Given the description of an element on the screen output the (x, y) to click on. 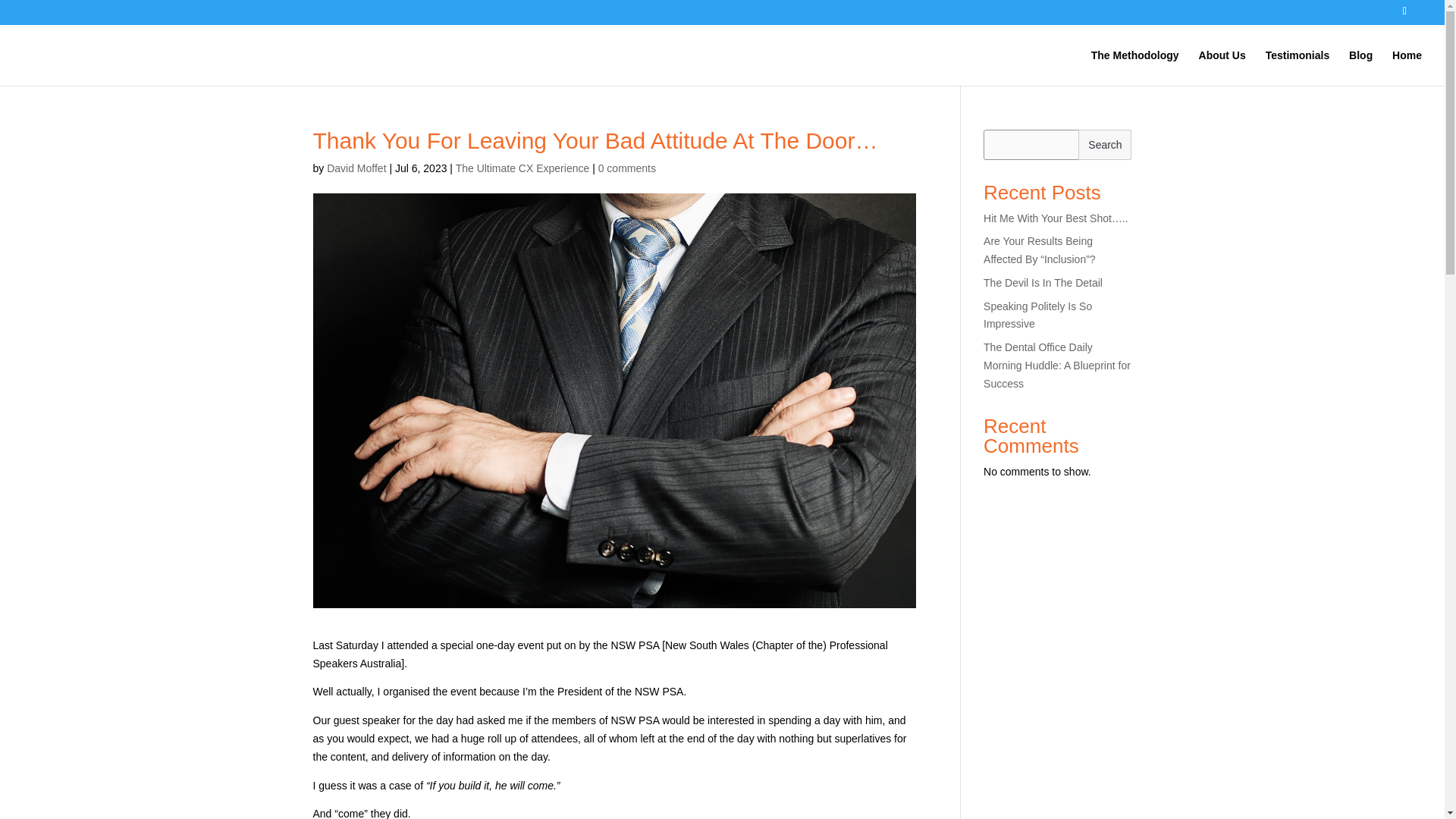
Posts by David Moffet (355, 168)
David Moffet (355, 168)
Speaking Politely Is So Impressive (1038, 315)
Testimonials (1297, 67)
The Devil Is In The Detail (1043, 282)
The Ultimate CX Experience (522, 168)
Search (1104, 143)
About Us (1222, 67)
0 comments (627, 168)
